Given the description of an element on the screen output the (x, y) to click on. 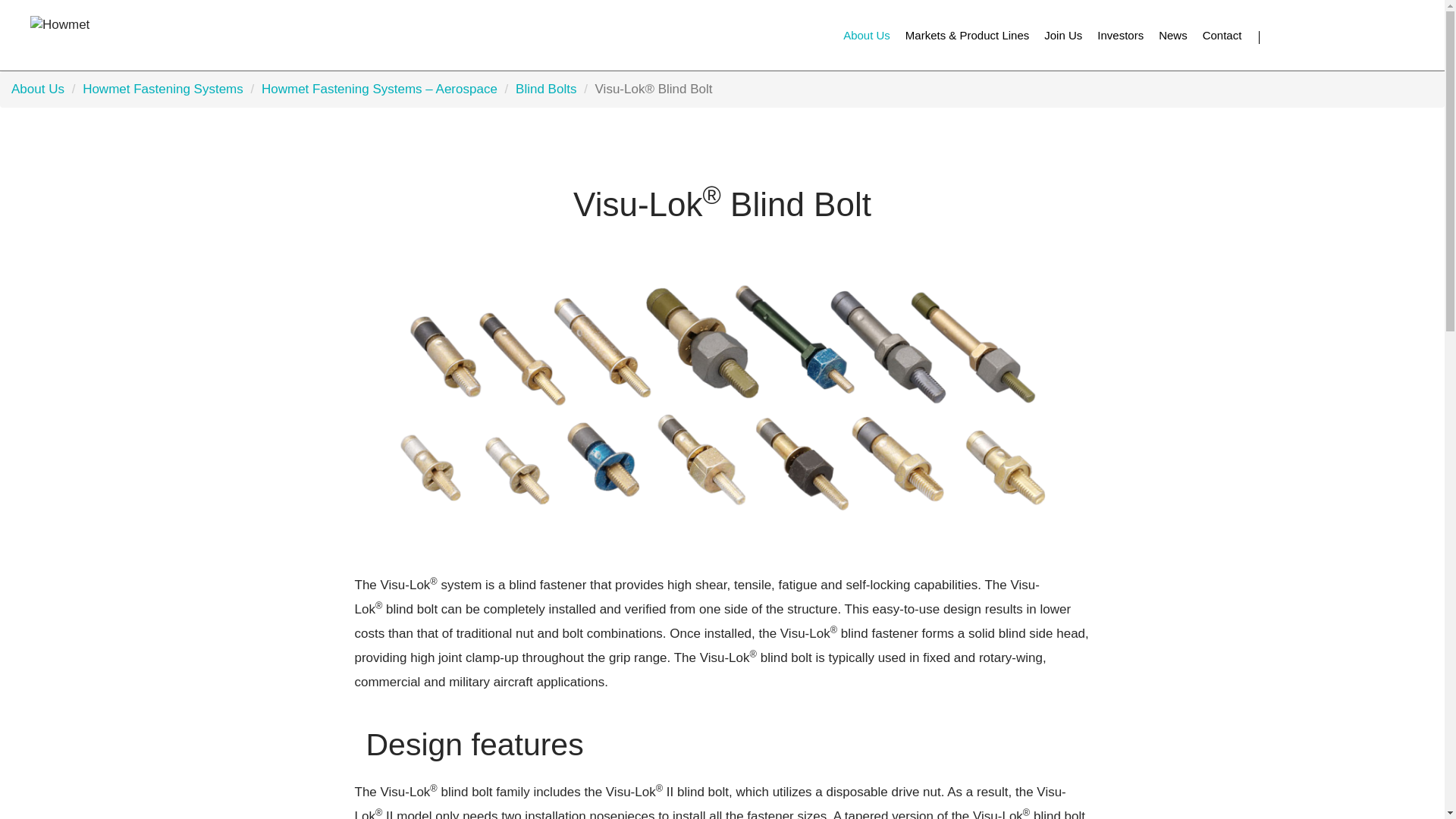
Join Us (1062, 34)
Investors (1119, 34)
About Us (866, 34)
